Given the description of an element on the screen output the (x, y) to click on. 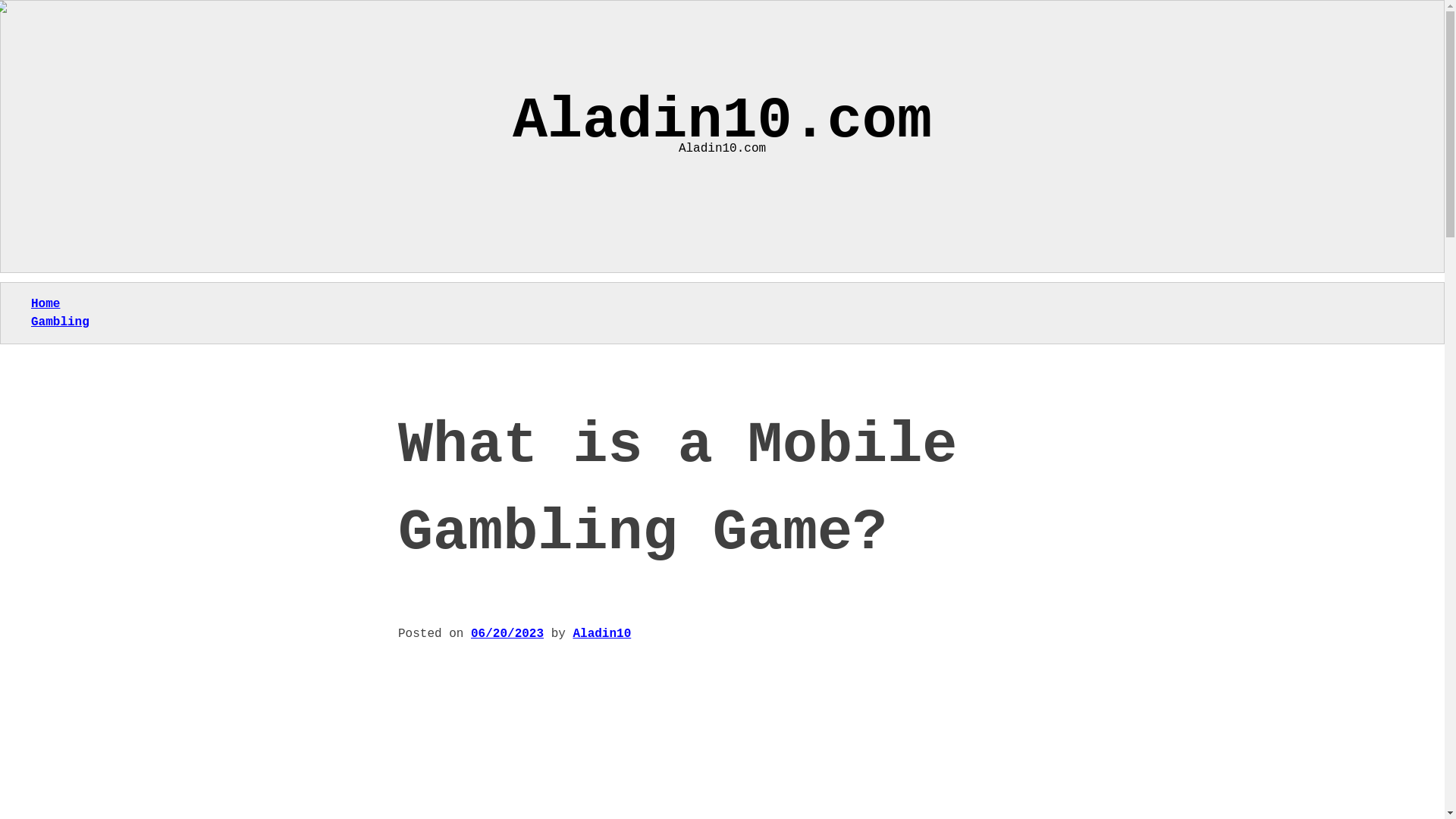
Gambling (59, 322)
Aladin10 (601, 633)
Home (44, 304)
Aladin10.com (721, 120)
